Given the description of an element on the screen output the (x, y) to click on. 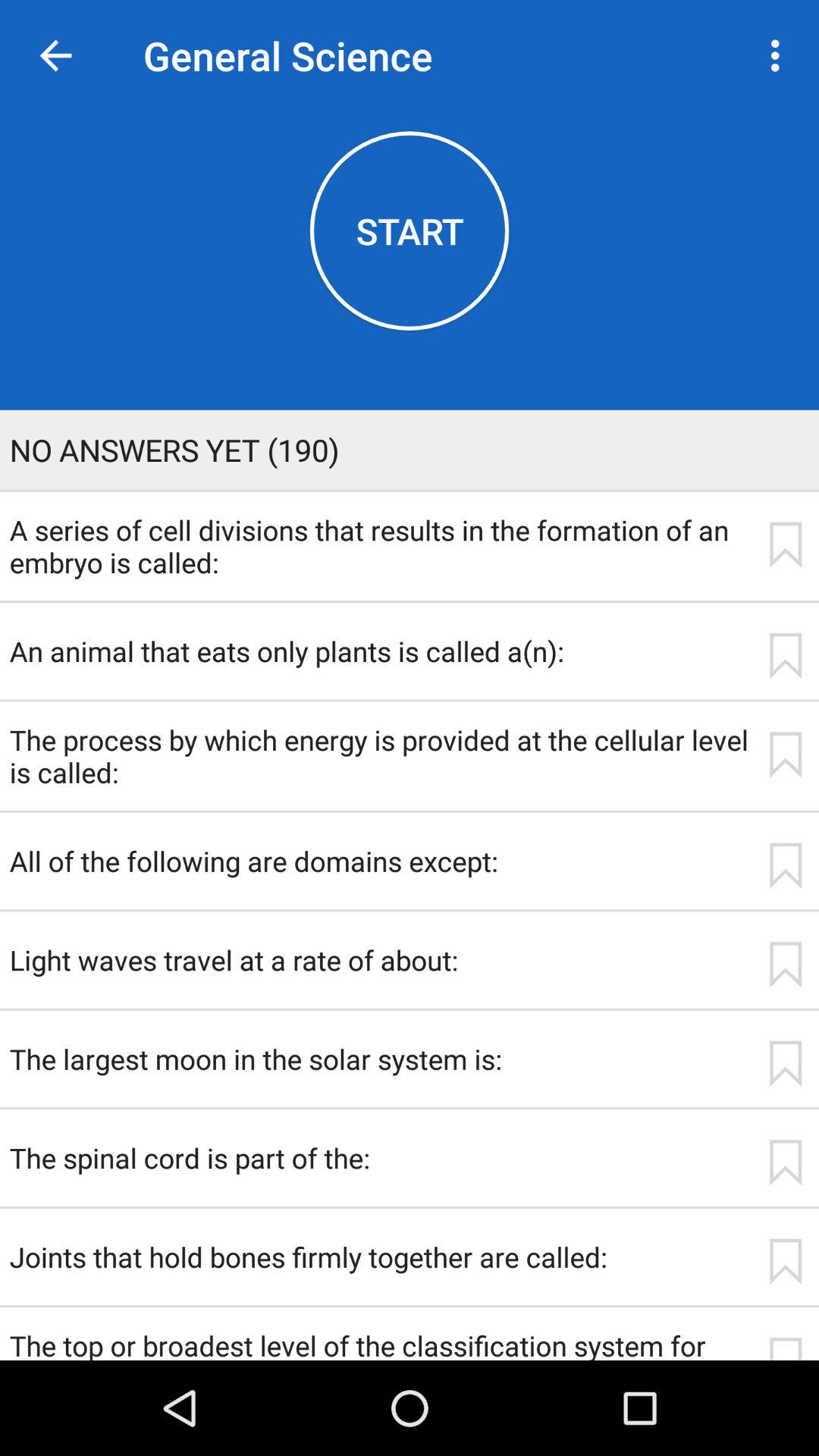
turn off the app to the right of the the spinal cord item (784, 1162)
